Given the description of an element on the screen output the (x, y) to click on. 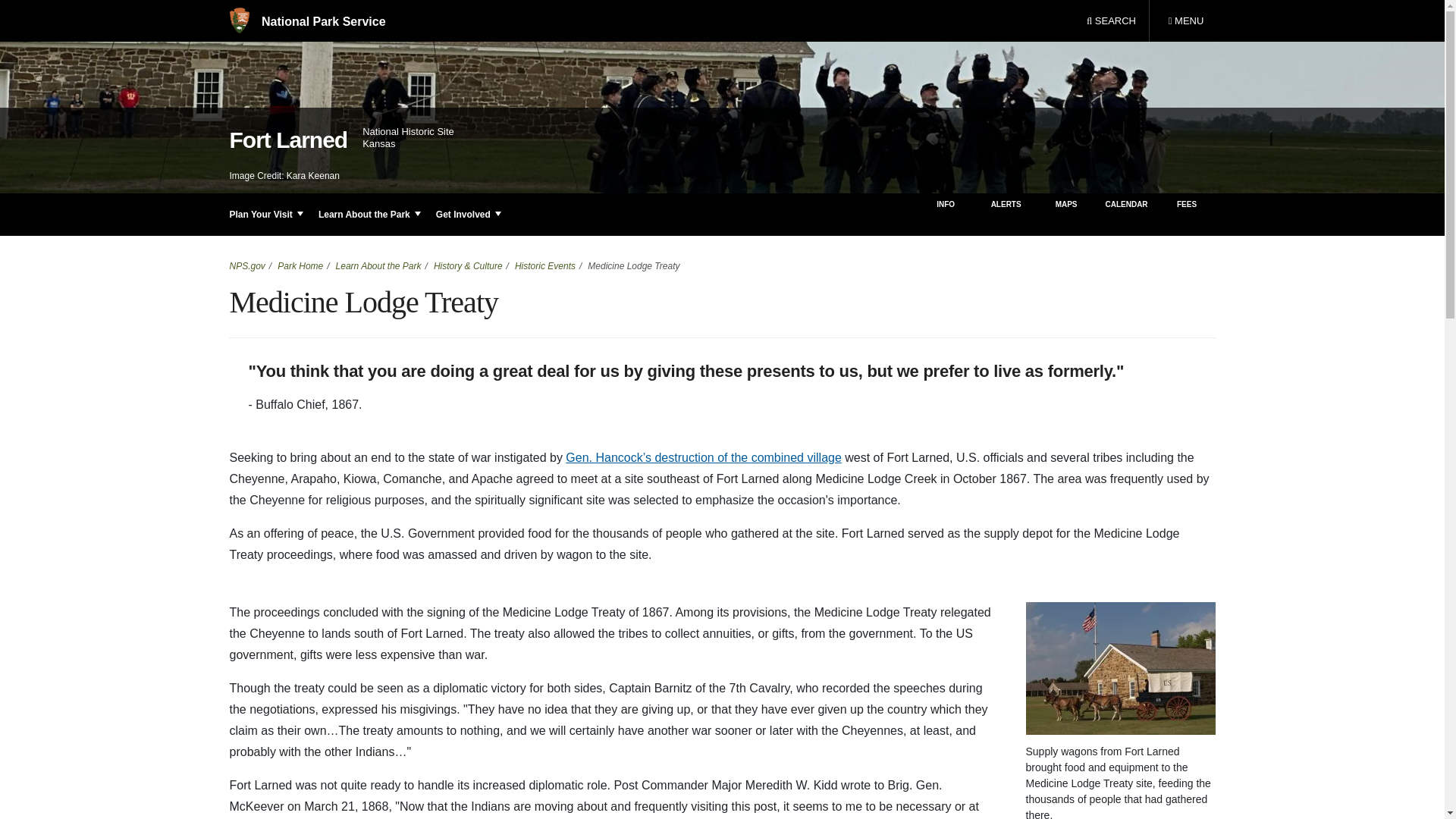
SEARCH (1185, 20)
National Park Service (1111, 20)
